Given the description of an element on the screen output the (x, y) to click on. 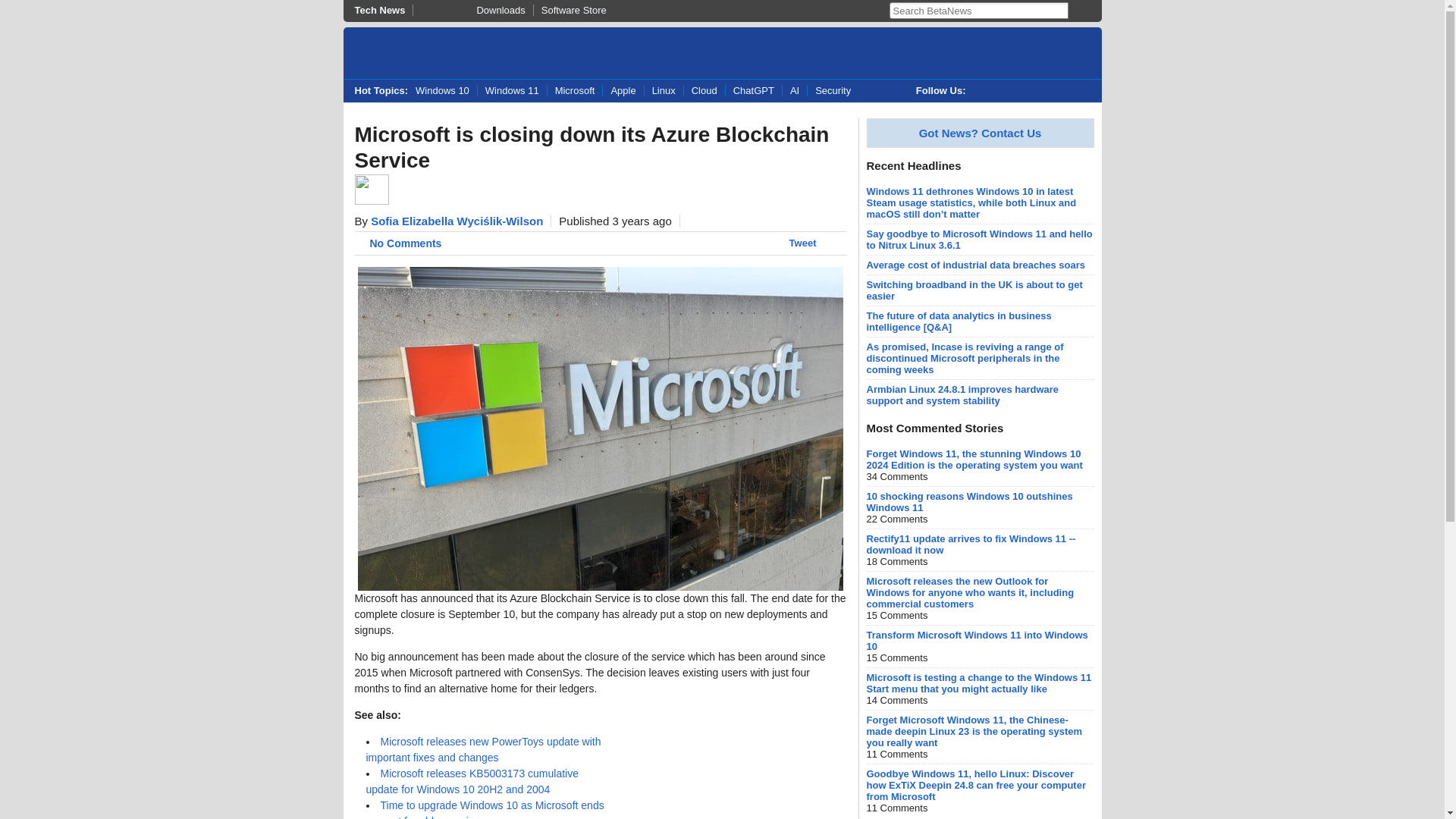
Facebook (1017, 91)
Tech News (384, 9)
Facebook (1017, 91)
RSS (1078, 91)
Linked-in (1046, 91)
Cloud (703, 90)
Tweet (802, 242)
Twitter (984, 91)
